Given the description of an element on the screen output the (x, y) to click on. 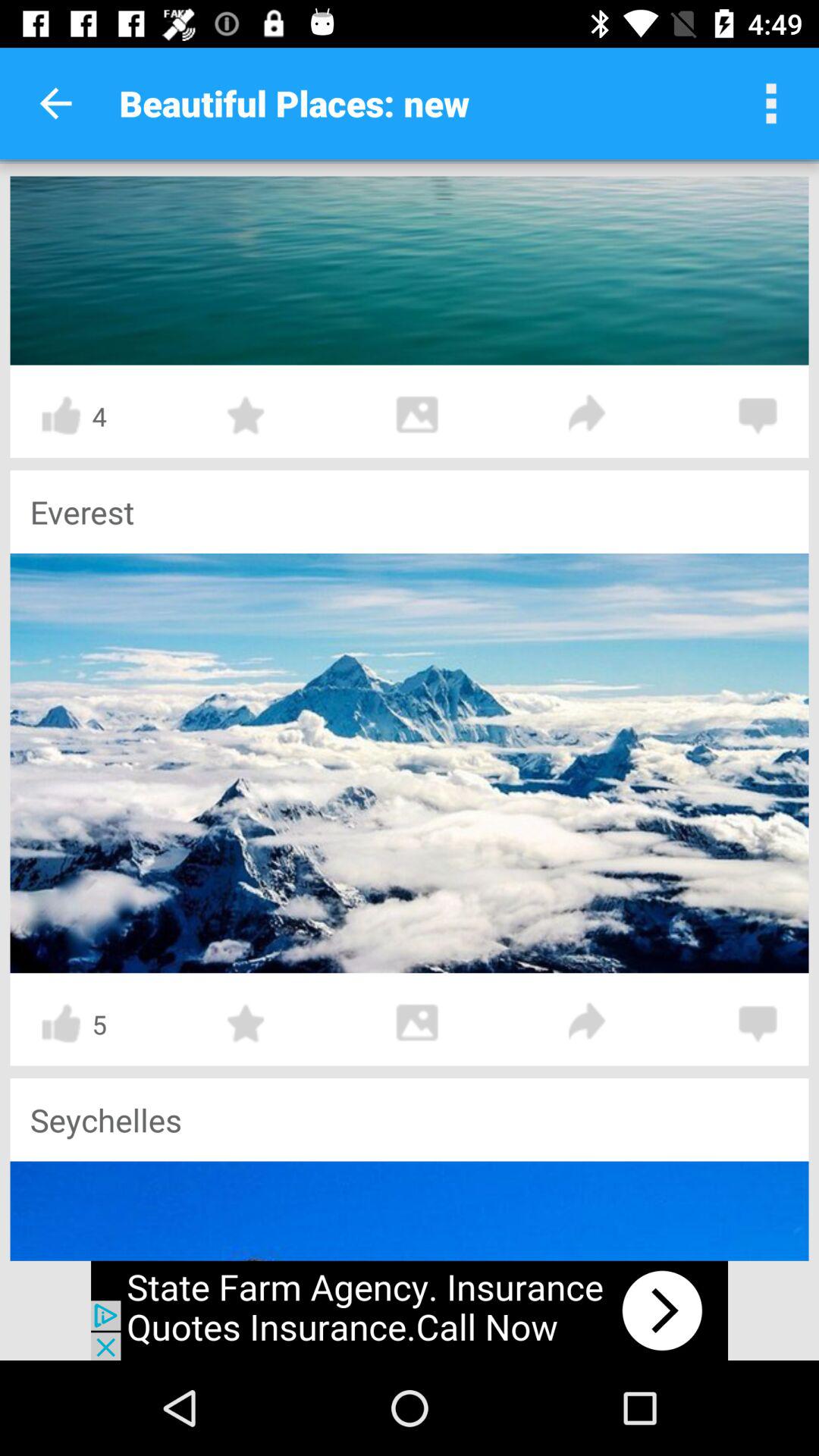
switch forward option (587, 1023)
